Given the description of an element on the screen output the (x, y) to click on. 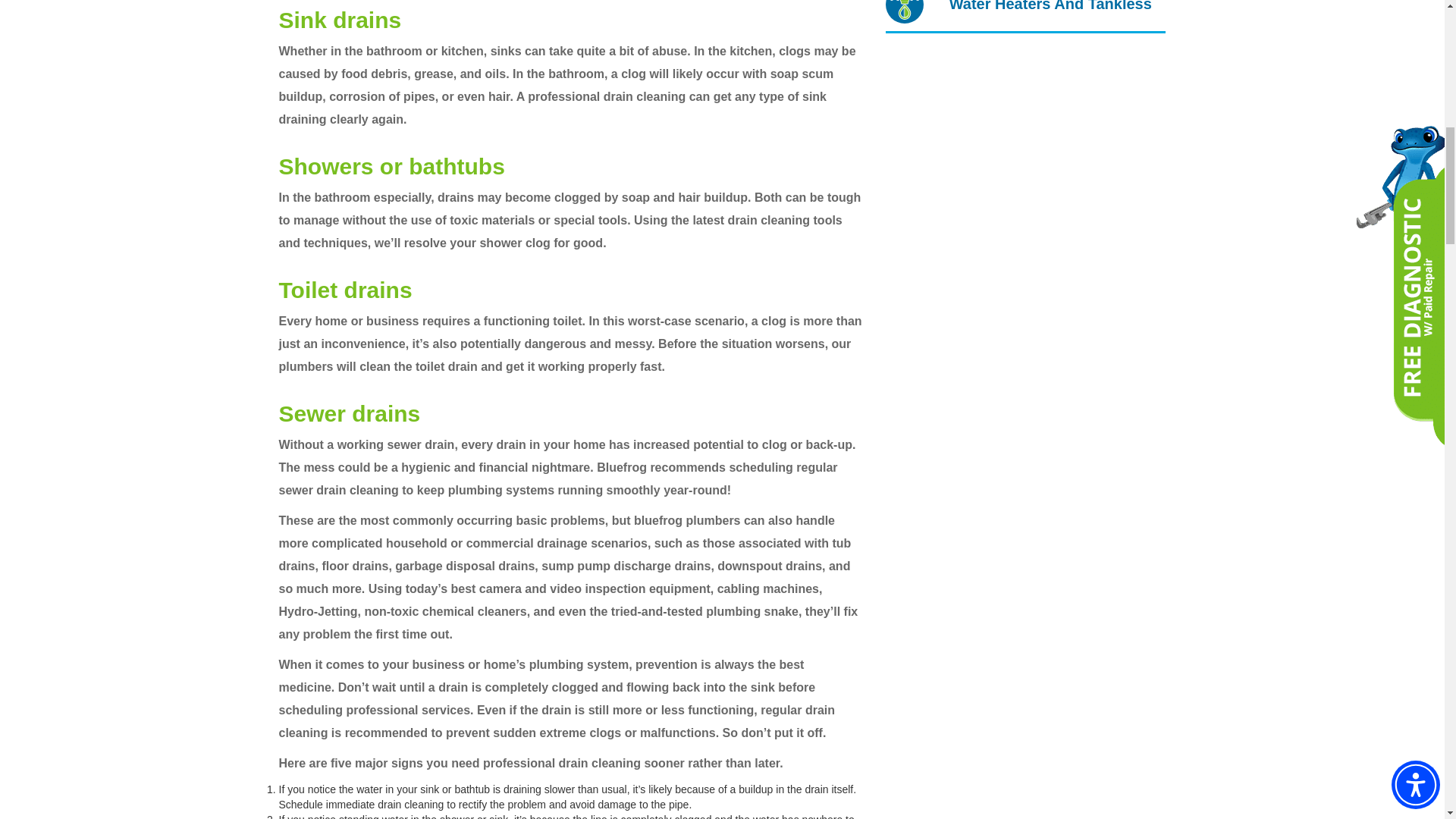
Water Heaters And Tankless (1018, 4)
